Given the description of an element on the screen output the (x, y) to click on. 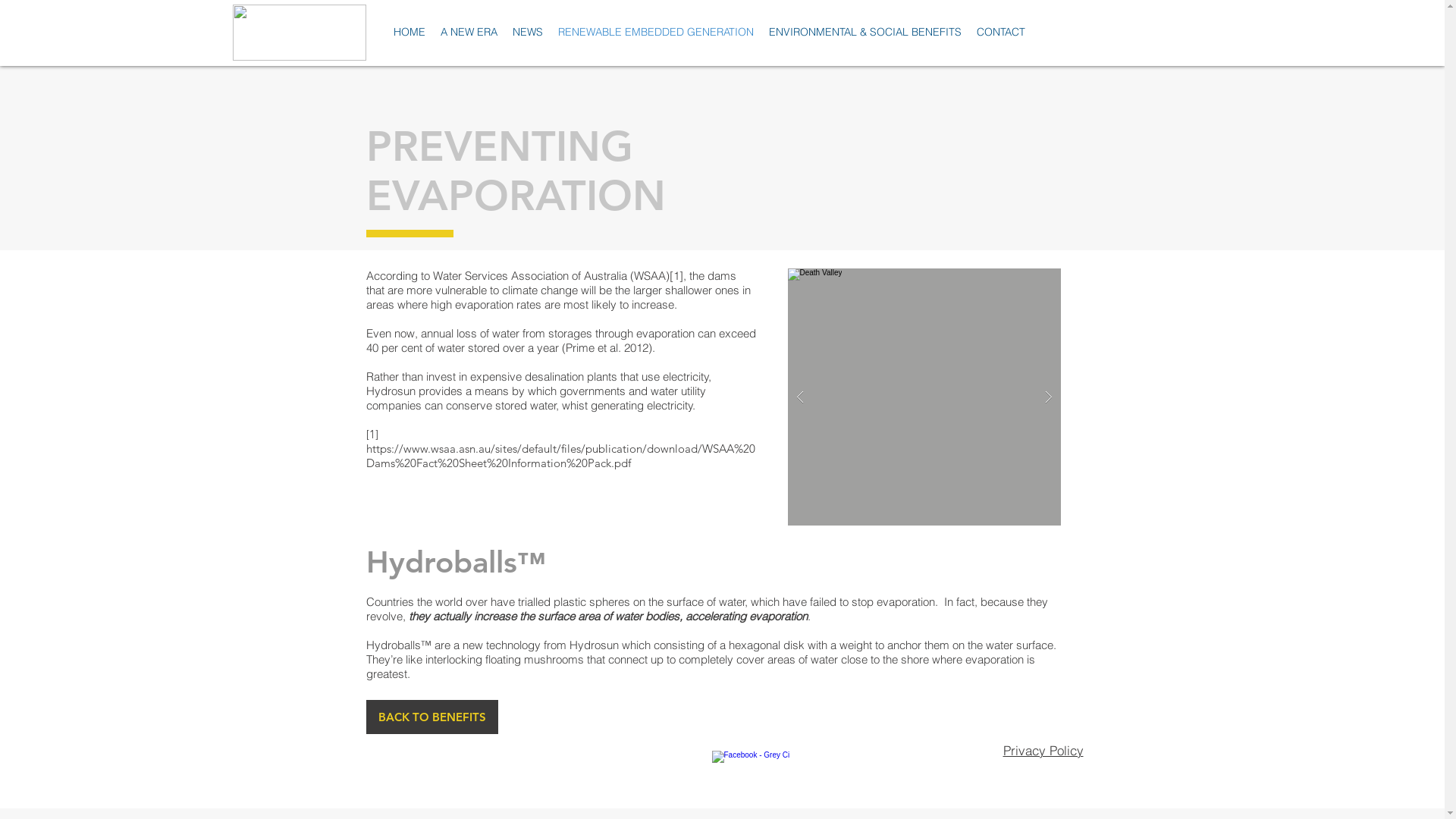
A NEW ERA Element type: text (469, 31)
RENEWABLE EMBEDDED GENERATION Element type: text (655, 31)
NEWS Element type: text (527, 31)
HOME Element type: text (409, 31)
BACK TO BENEFITS Element type: text (431, 716)
CONTACT Element type: text (1000, 31)
Privacy Policy Element type: text (1042, 750)
ENVIRONMENTAL & SOCIAL BENEFITS Element type: text (865, 31)
